Given the description of an element on the screen output the (x, y) to click on. 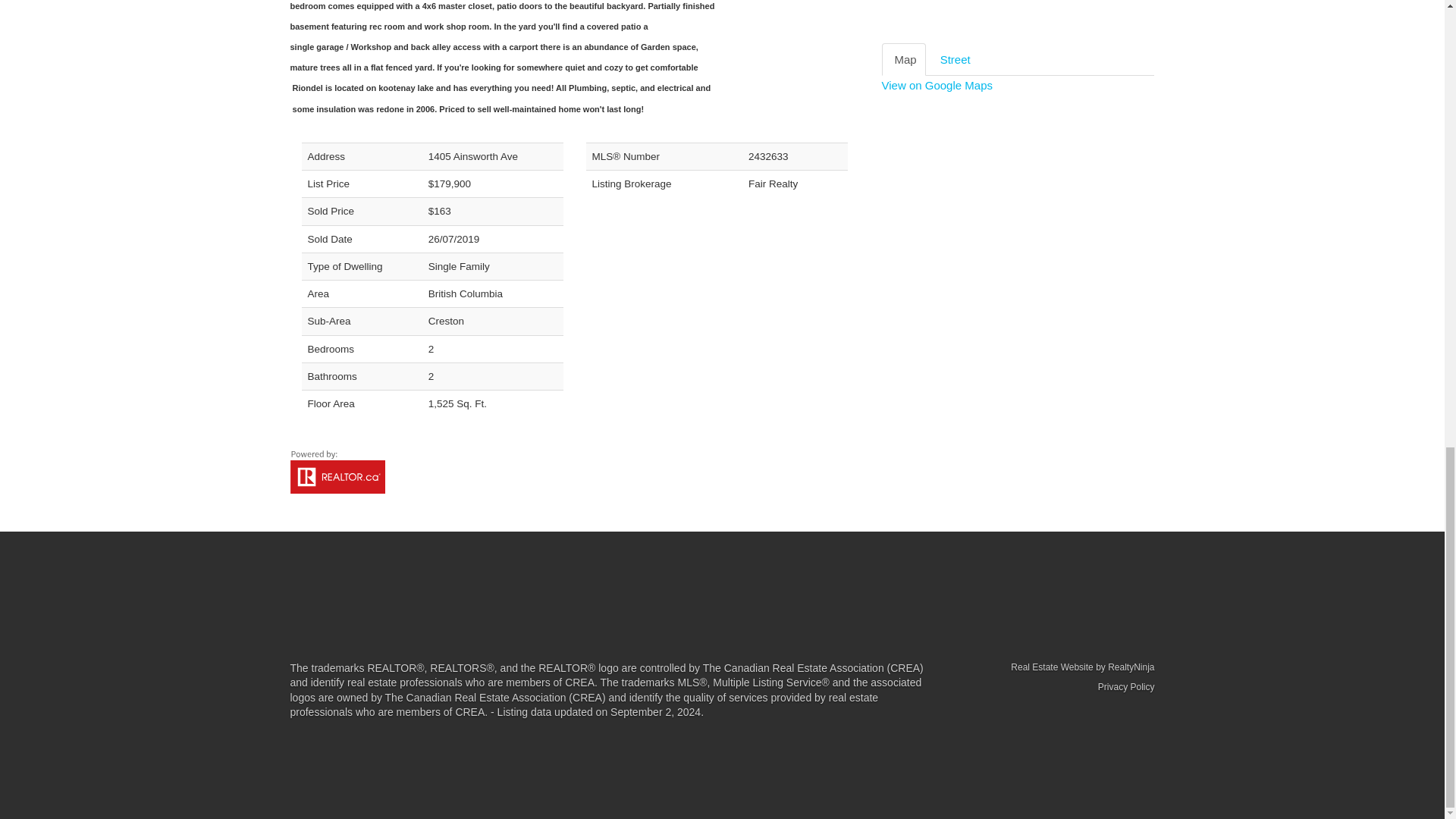
View on Google Maps (935, 84)
Privacy Policy (1125, 686)
Street (953, 59)
Real Estate Website by RealtyNinja (1054, 666)
Map (902, 59)
